Given the description of an element on the screen output the (x, y) to click on. 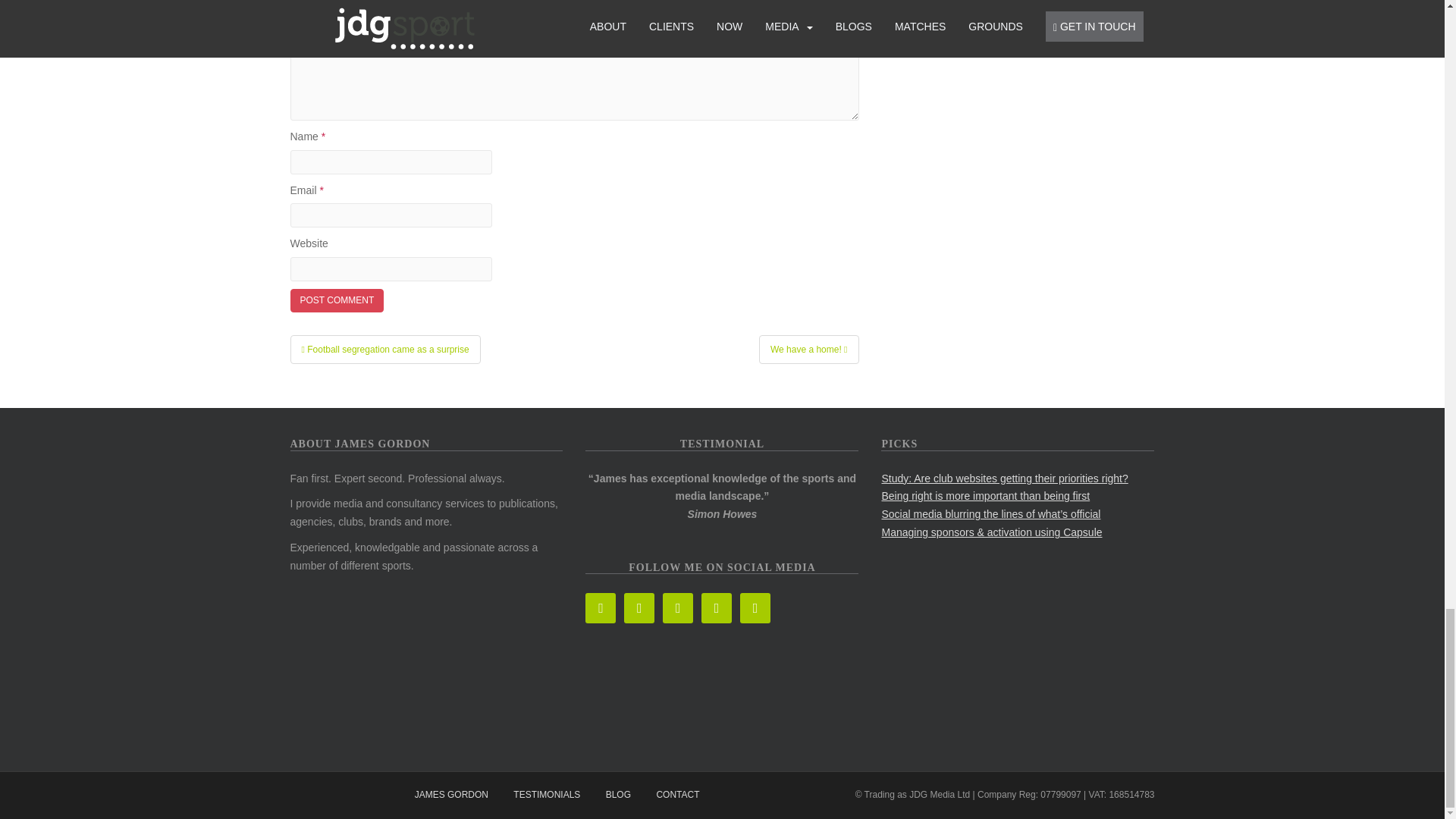
We have a home! (808, 348)
Football segregation came as a surprise (384, 348)
Post Comment (336, 300)
Post Comment (336, 300)
